Given the description of an element on the screen output the (x, y) to click on. 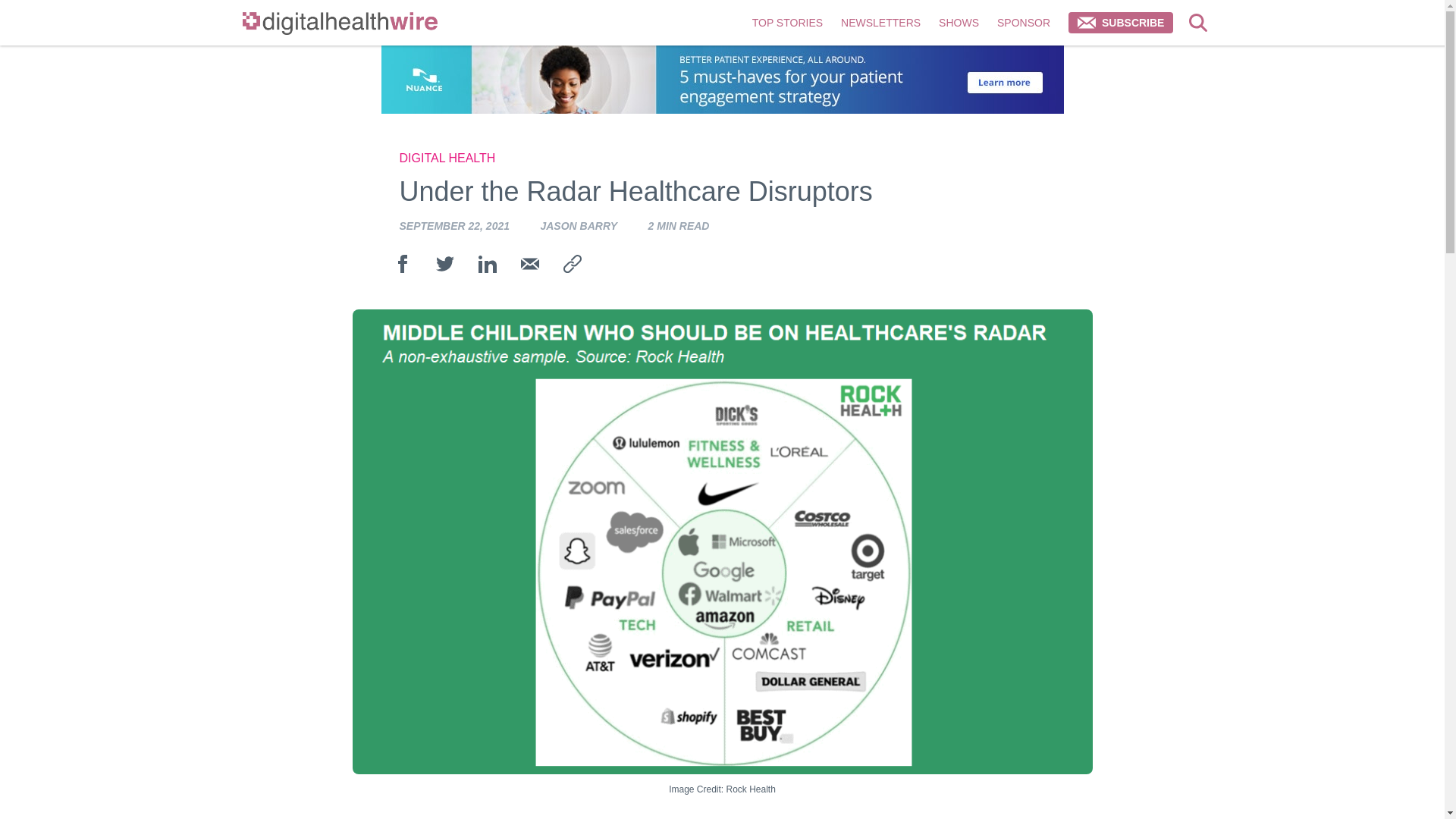
TOP STORIES (787, 22)
SUBSCRIBE (1120, 22)
SPONSOR (1023, 22)
NEWSLETTERS (880, 22)
SHOWS (958, 22)
